Given the description of an element on the screen output the (x, y) to click on. 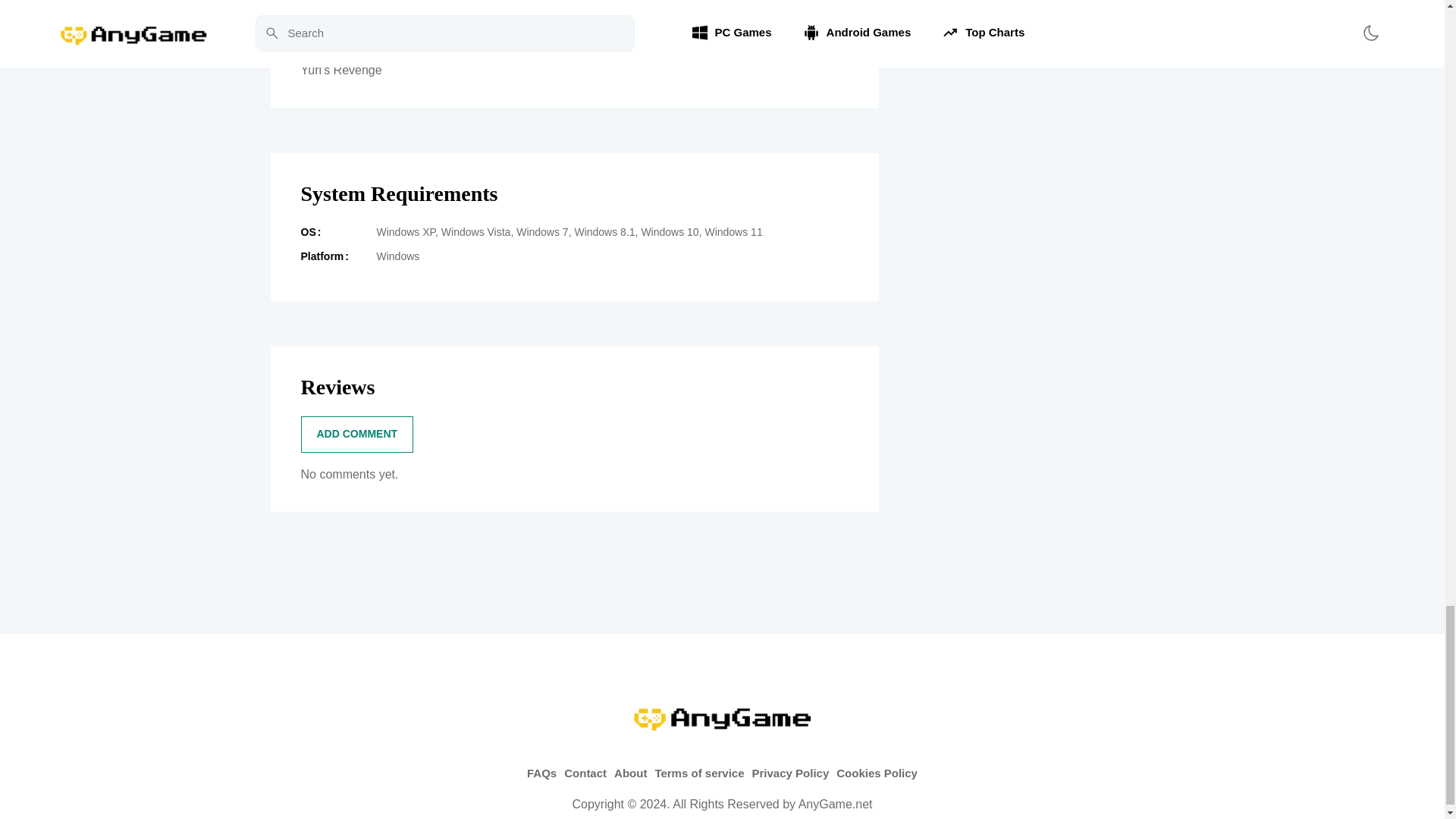
ADD COMMENT (356, 434)
